Given the description of an element on the screen output the (x, y) to click on. 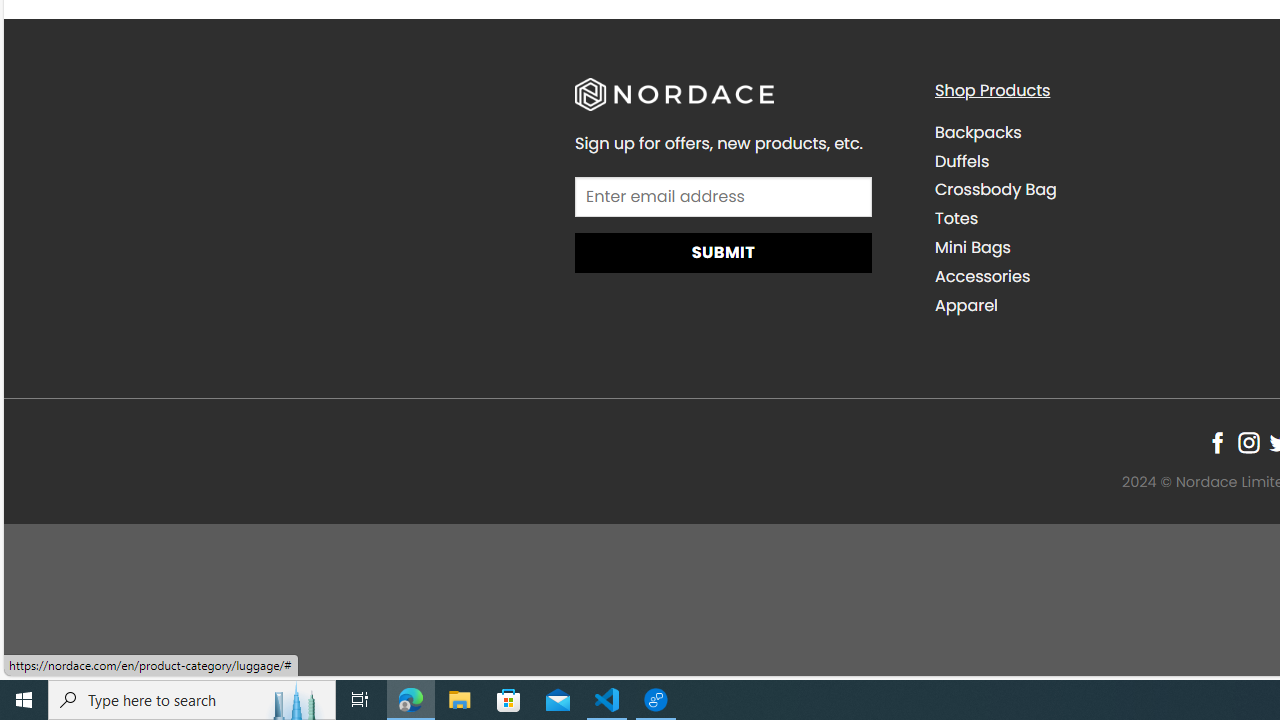
Submit (722, 253)
Accessories (982, 276)
Crossbody Bag (1099, 190)
Apparel (966, 304)
